Given the description of an element on the screen output the (x, y) to click on. 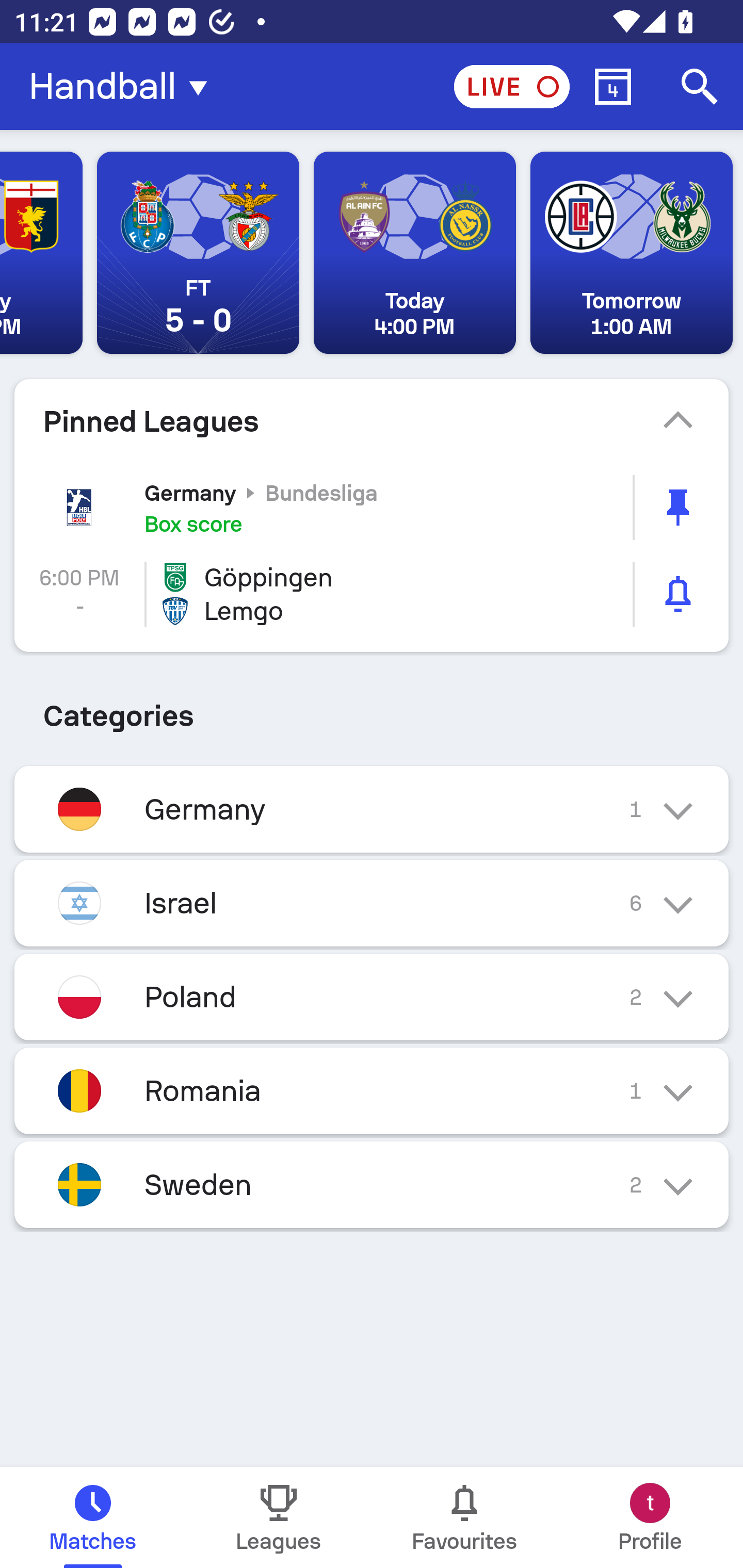
Handball (124, 86)
Calendar (612, 86)
Search (699, 86)
FT 5 - 0 (198, 253)
Today
4:00 PM (414, 253)
Tomorrow
1:00 AM (631, 253)
Pinned Leagues (371, 421)
Germany Bundesliga Box score (371, 507)
6:00 PM - Göppingen Lemgo (371, 594)
Categories (371, 708)
Germany 1 (371, 808)
Israel 6 (371, 903)
Poland 2 (371, 996)
Romania 1 (371, 1090)
Sweden 2 (371, 1184)
Leagues (278, 1517)
Favourites (464, 1517)
Profile (650, 1517)
